Given the description of an element on the screen output the (x, y) to click on. 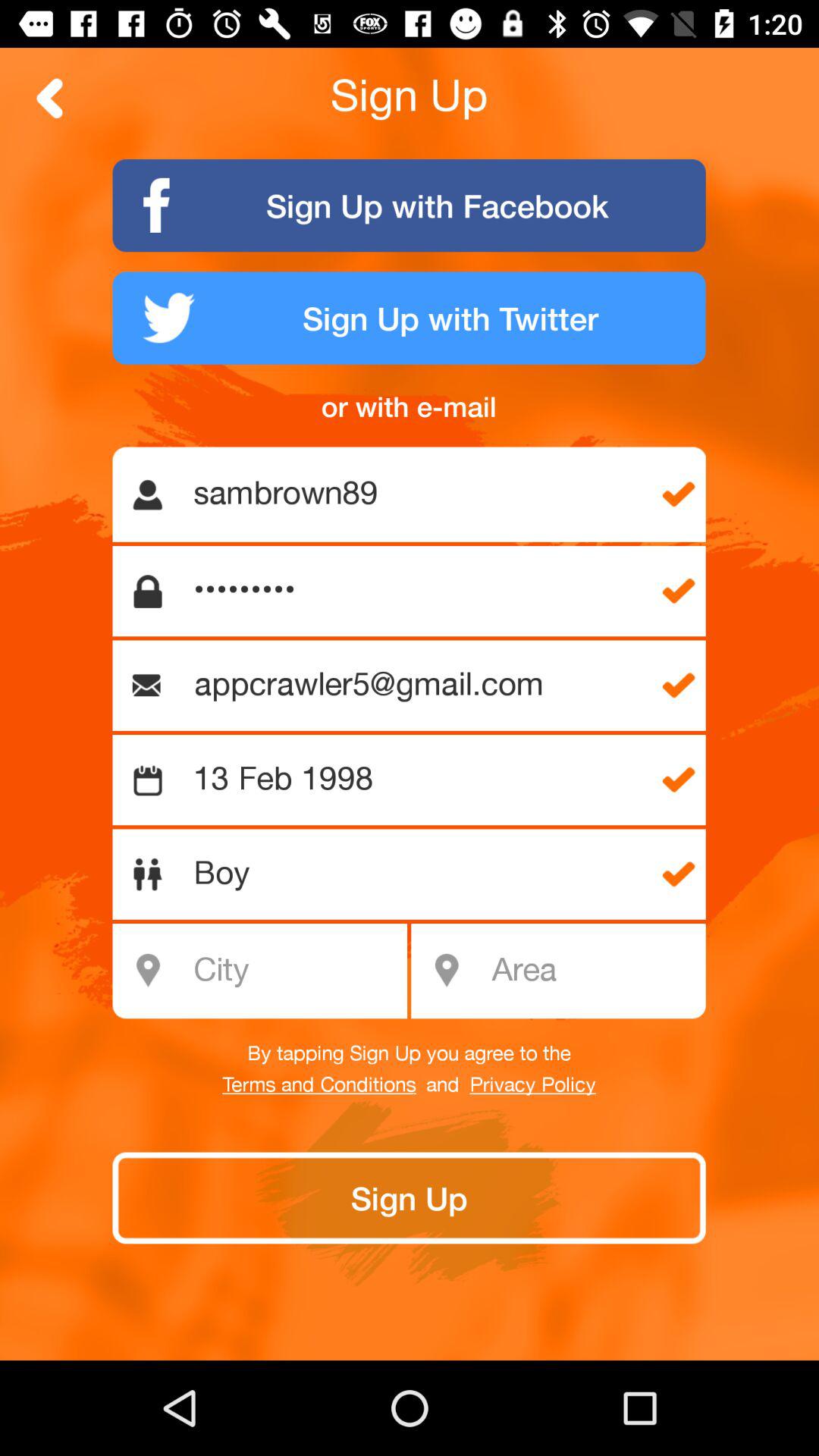
go back (50, 98)
